Given the description of an element on the screen output the (x, y) to click on. 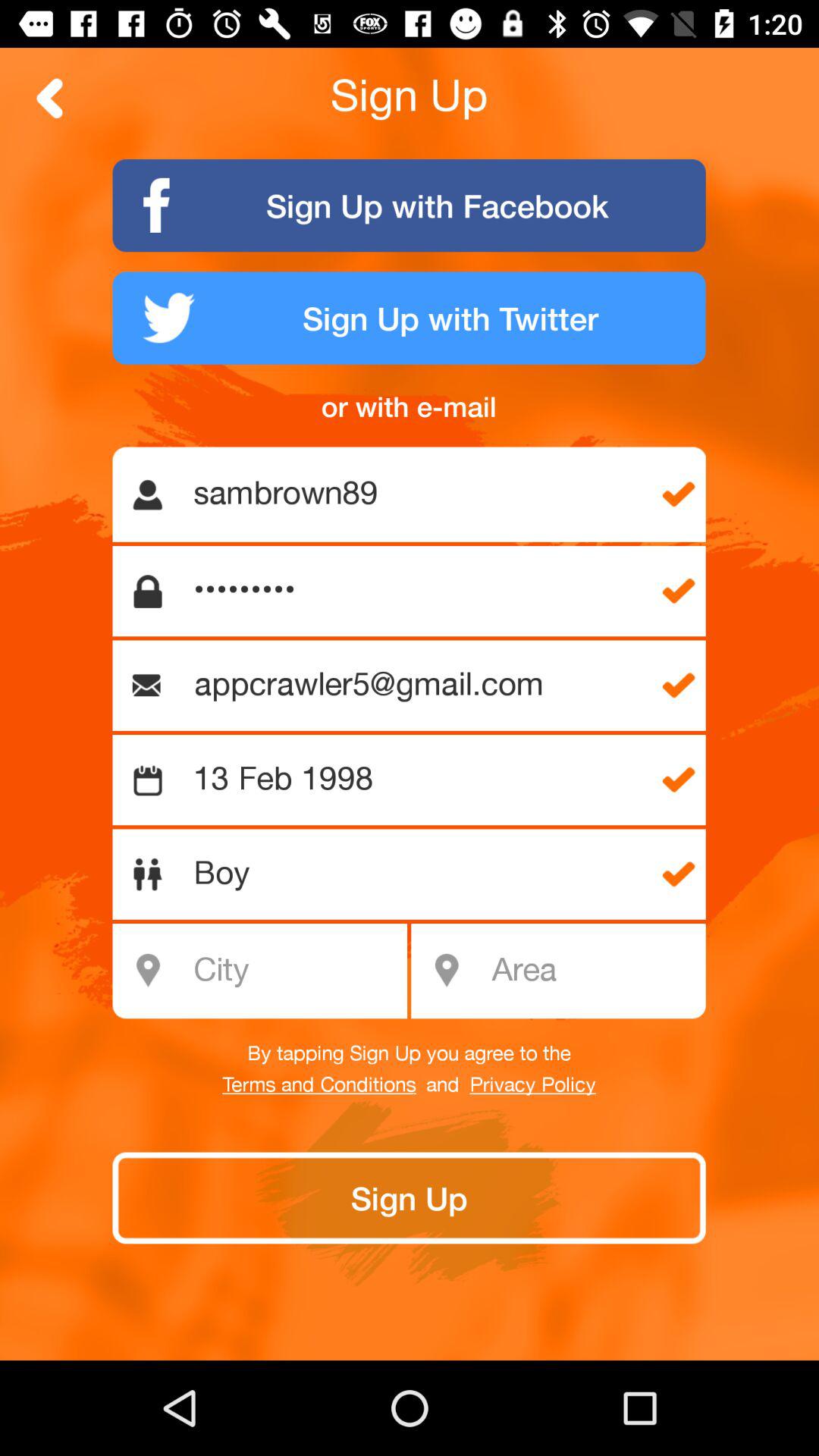
go back (50, 98)
